Given the description of an element on the screen output the (x, y) to click on. 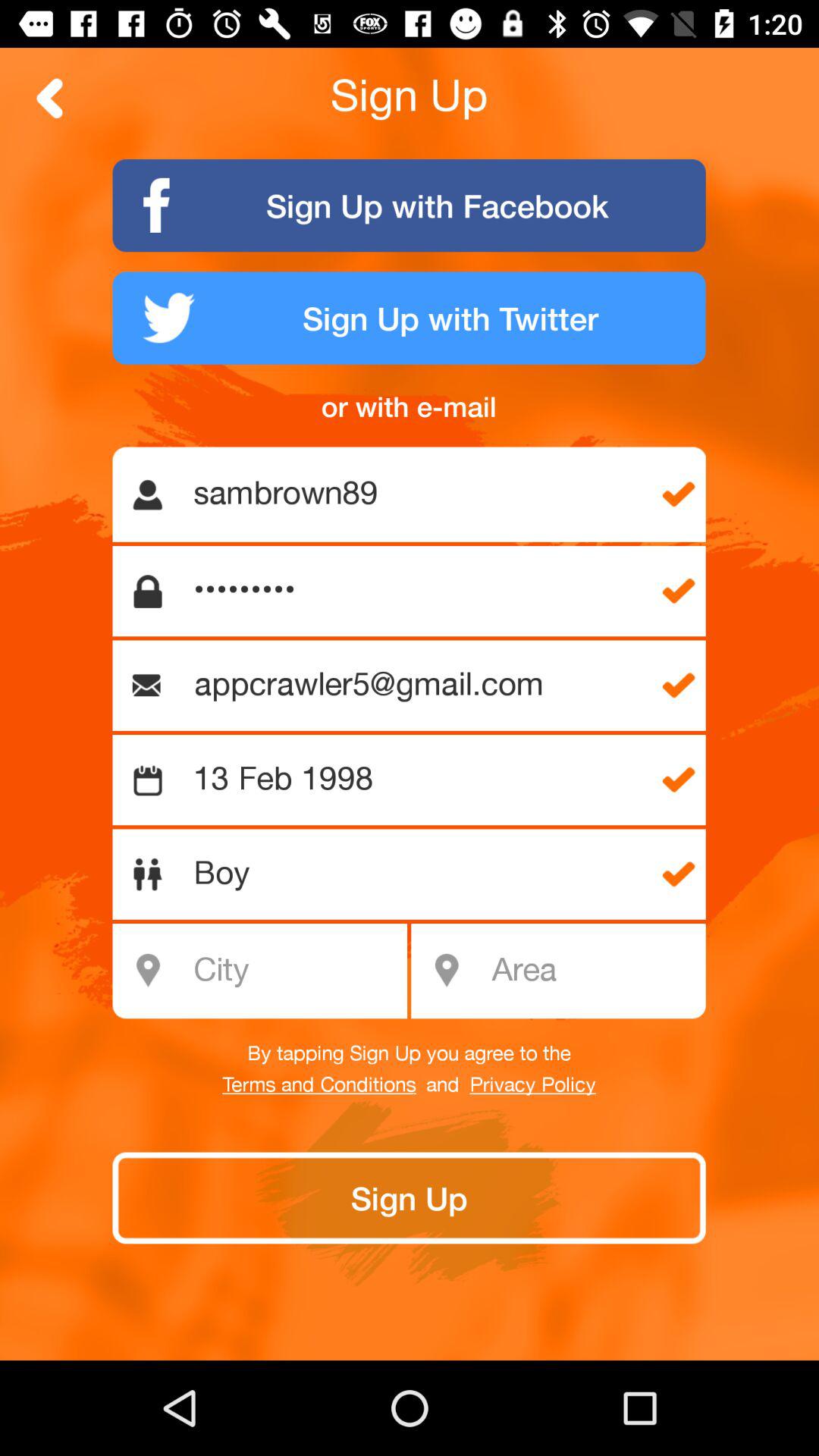
go back (50, 98)
